Given the description of an element on the screen output the (x, y) to click on. 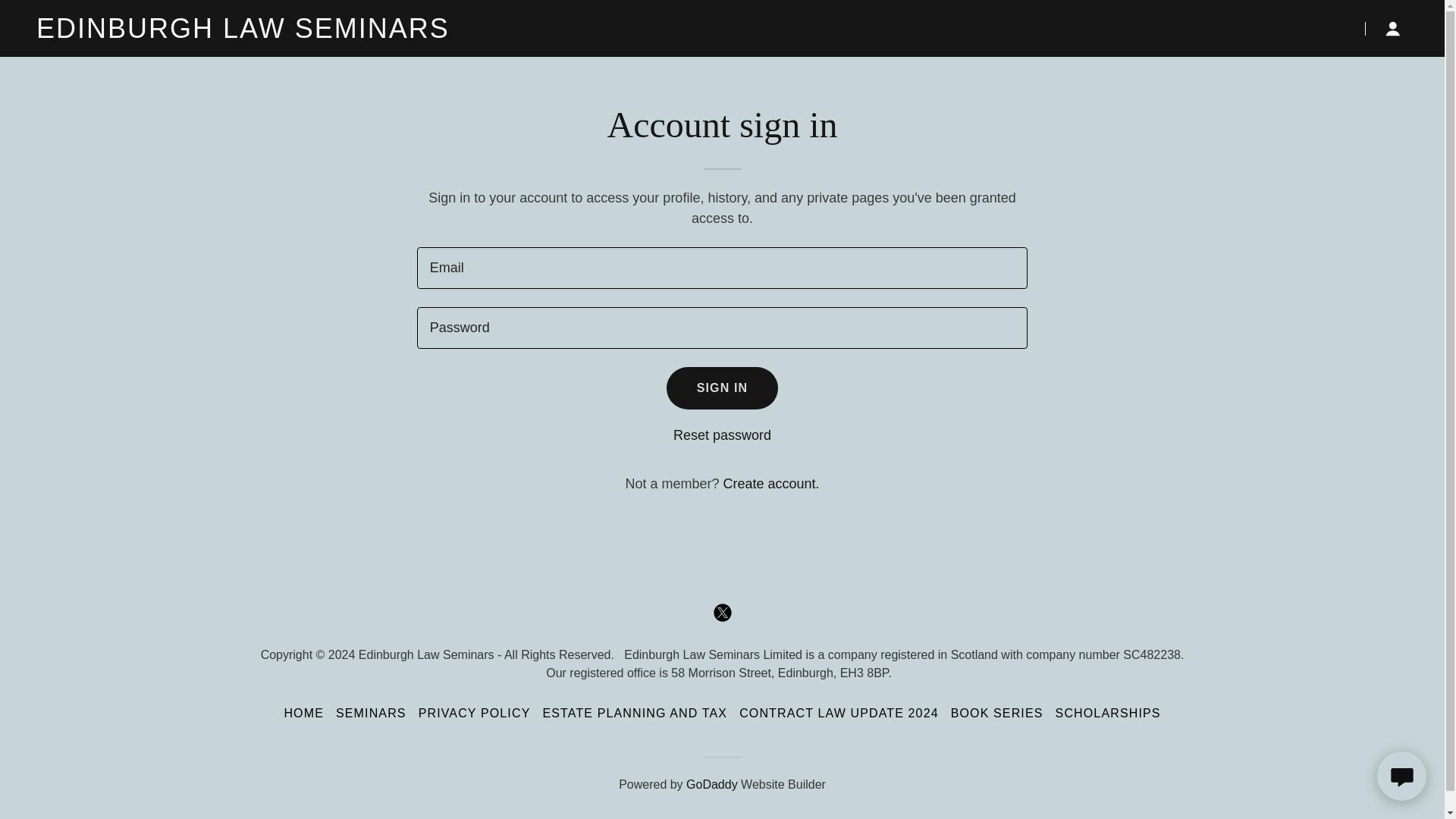
SCHOLARSHIPS (1108, 713)
SEMINARS (371, 713)
GoDaddy (711, 784)
CONTRACT LAW UPDATE 2024 (838, 713)
PRIVACY POLICY (474, 713)
Reset password (721, 435)
Create account. (770, 483)
SIGN IN (722, 387)
ESTATE PLANNING AND TAX (634, 713)
EDINBURGH LAW SEMINARS (276, 32)
